Given the description of an element on the screen output the (x, y) to click on. 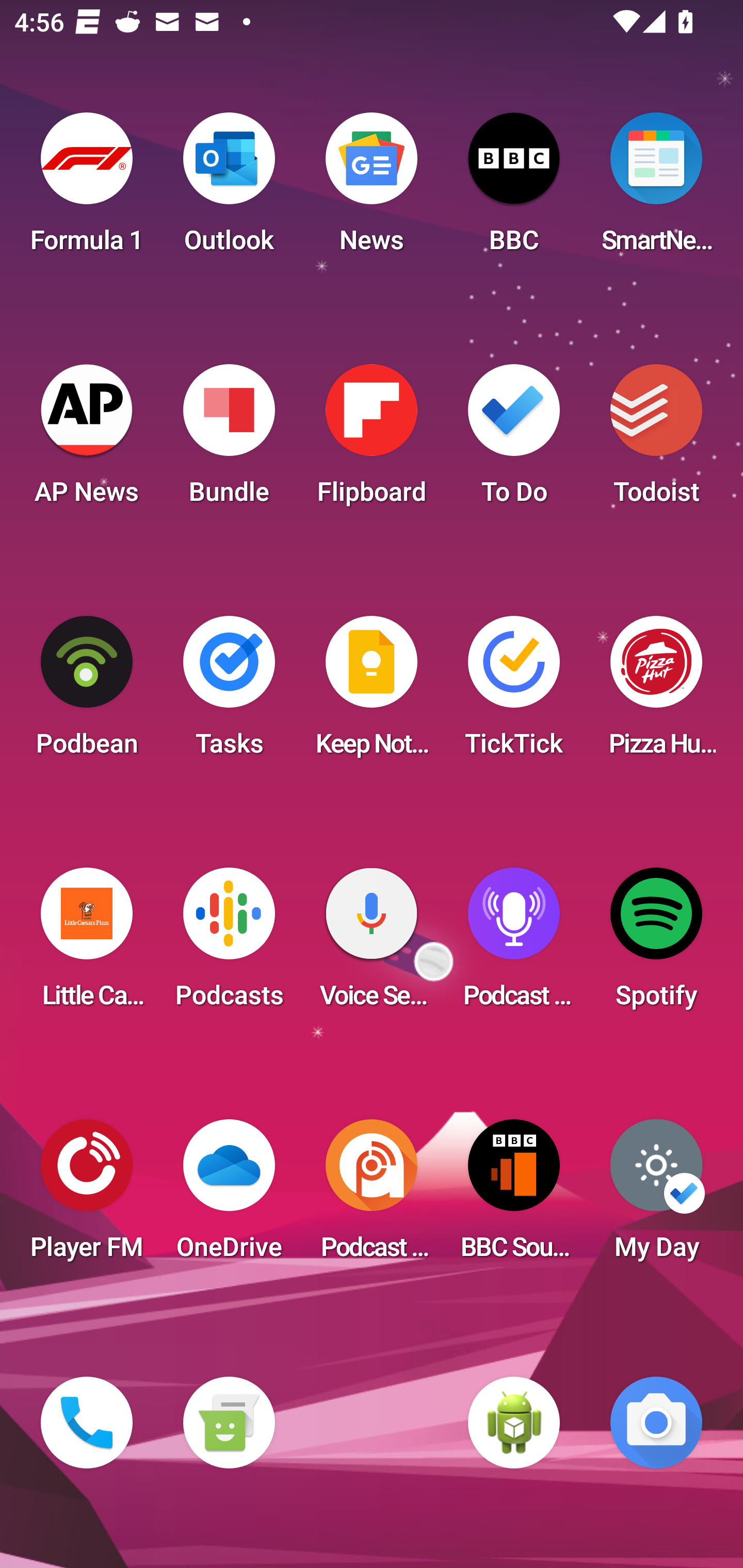
Formula 1 (86, 188)
Outlook (228, 188)
News (371, 188)
BBC (513, 188)
SmartNews (656, 188)
AP News (86, 440)
Bundle (228, 440)
Flipboard (371, 440)
To Do (513, 440)
Todoist (656, 440)
Podbean (86, 692)
Tasks (228, 692)
Keep Notes (371, 692)
TickTick (513, 692)
Pizza Hut HK & Macau (656, 692)
Little Caesars Pizza (86, 943)
Podcasts (228, 943)
Voice Search (371, 943)
Podcast Player (513, 943)
Spotify (656, 943)
Player FM (86, 1195)
OneDrive (228, 1195)
Podcast Addict (371, 1195)
BBC Sounds (513, 1195)
My Day (656, 1195)
Phone (86, 1422)
Messaging (228, 1422)
WebView Browser Tester (513, 1422)
Camera (656, 1422)
